Given the description of an element on the screen output the (x, y) to click on. 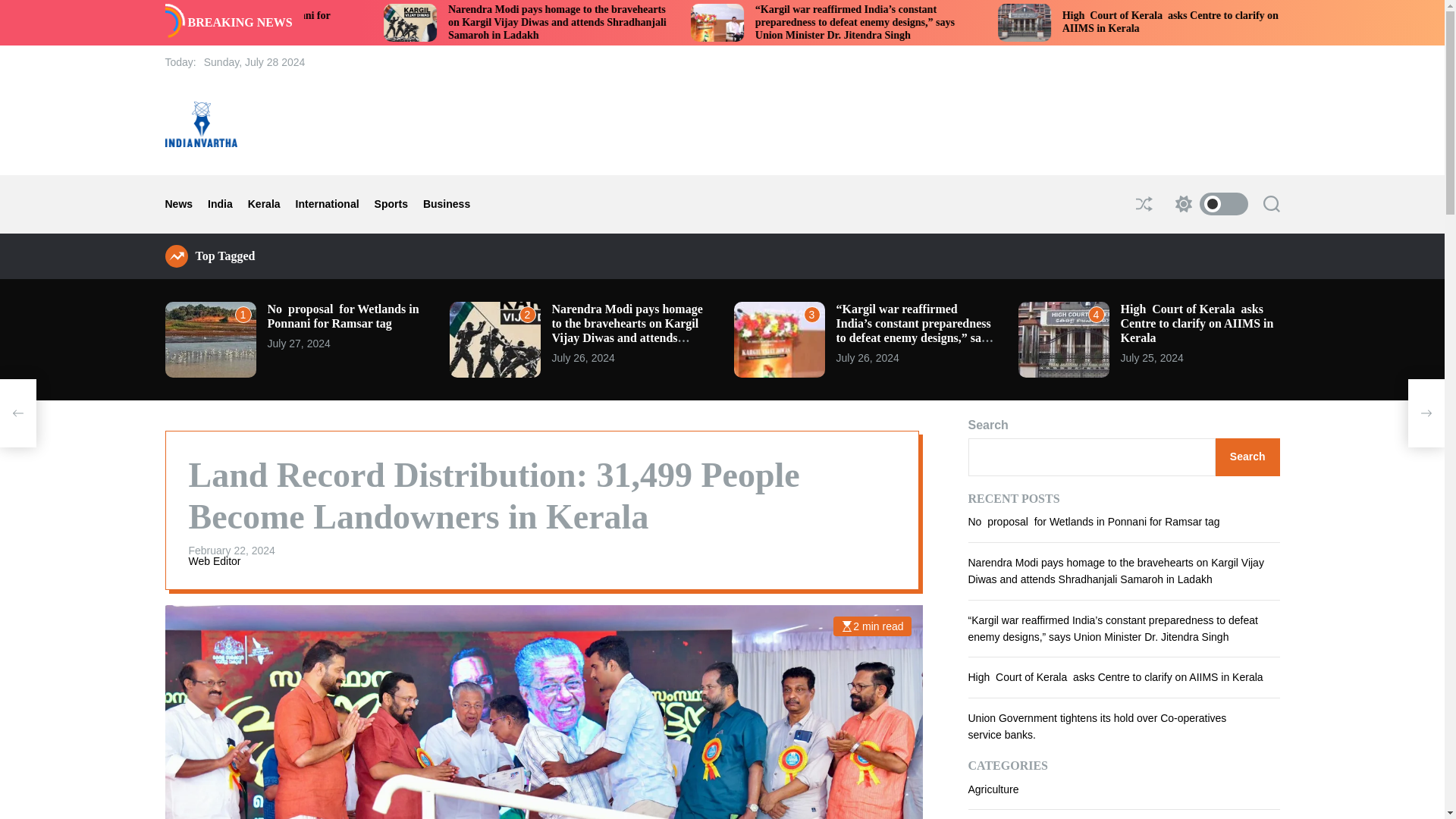
No  proposal  for Wetlands in Ponnani for Ramsar tag (462, 21)
